Given the description of an element on the screen output the (x, y) to click on. 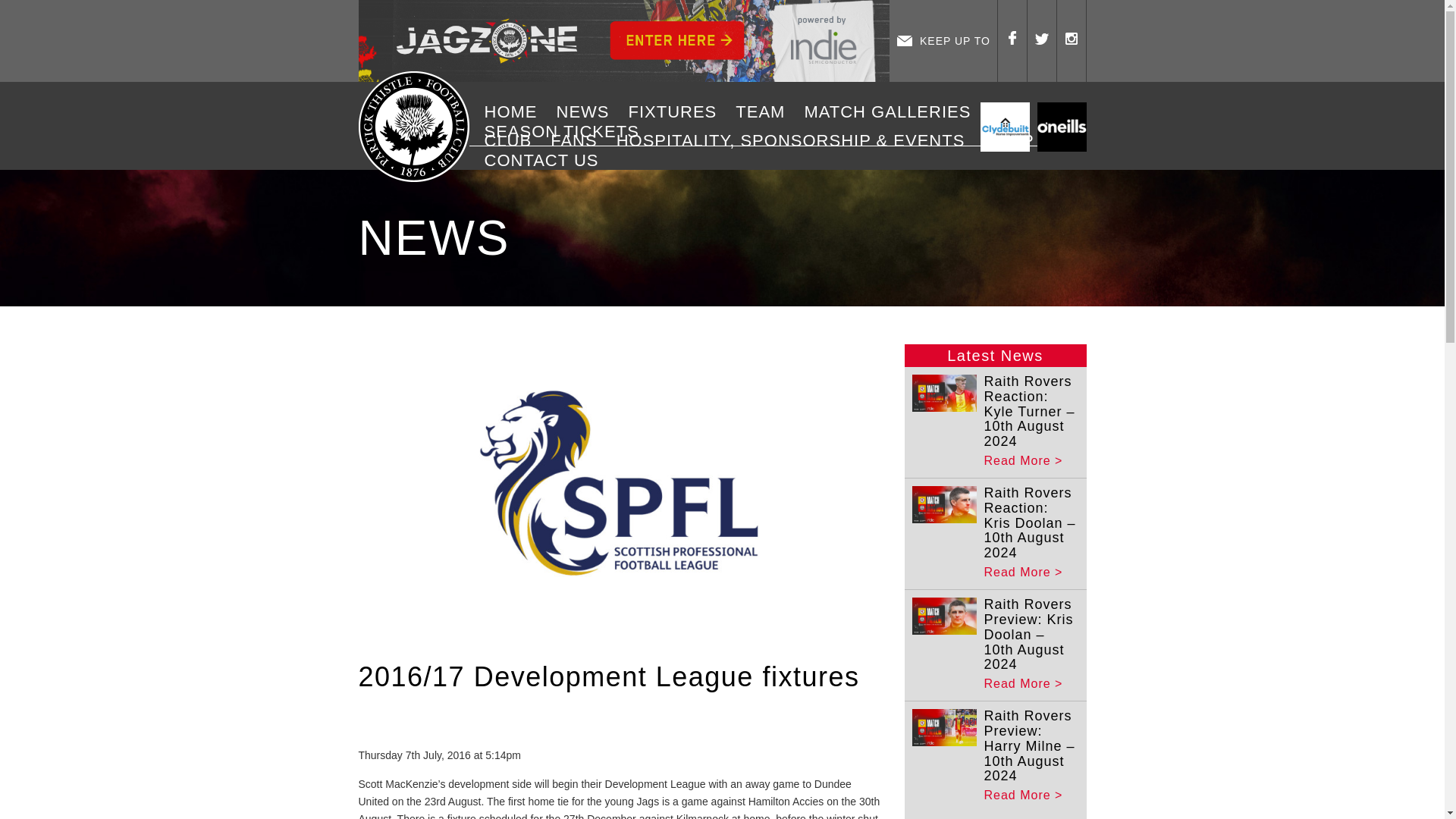
FANS (579, 140)
CONTACT US (547, 160)
NEWS (587, 112)
CLUB (513, 140)
SHOP (1013, 140)
MATCH GALLERIES (892, 112)
TEAM (765, 112)
Enter the JAGZONE (623, 40)
FIXTURES (678, 112)
